Given the description of an element on the screen output the (x, y) to click on. 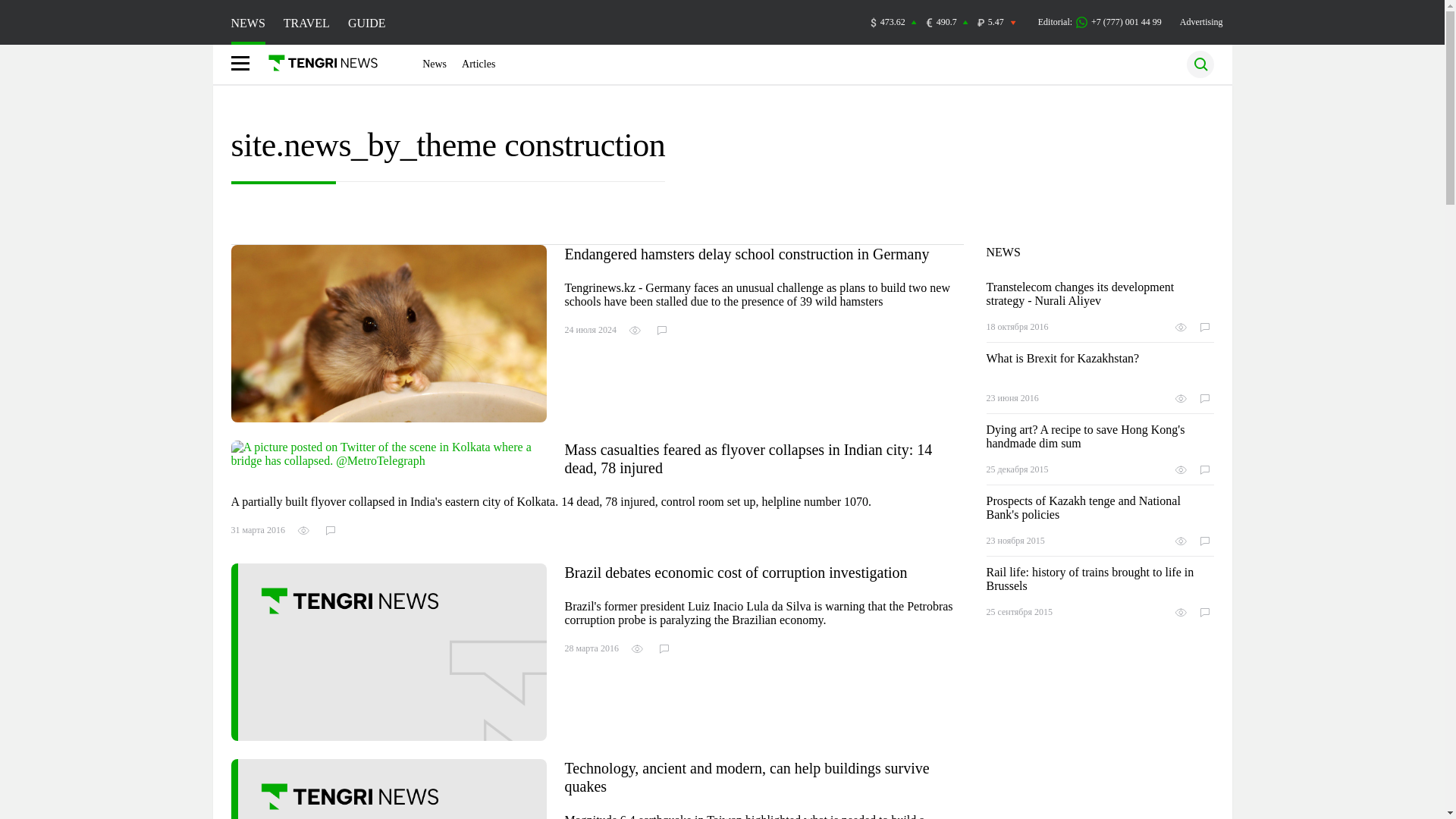
TRAVEL (306, 22)
Advertising (1201, 21)
Articles (478, 64)
News (434, 64)
